Given the description of an element on the screen output the (x, y) to click on. 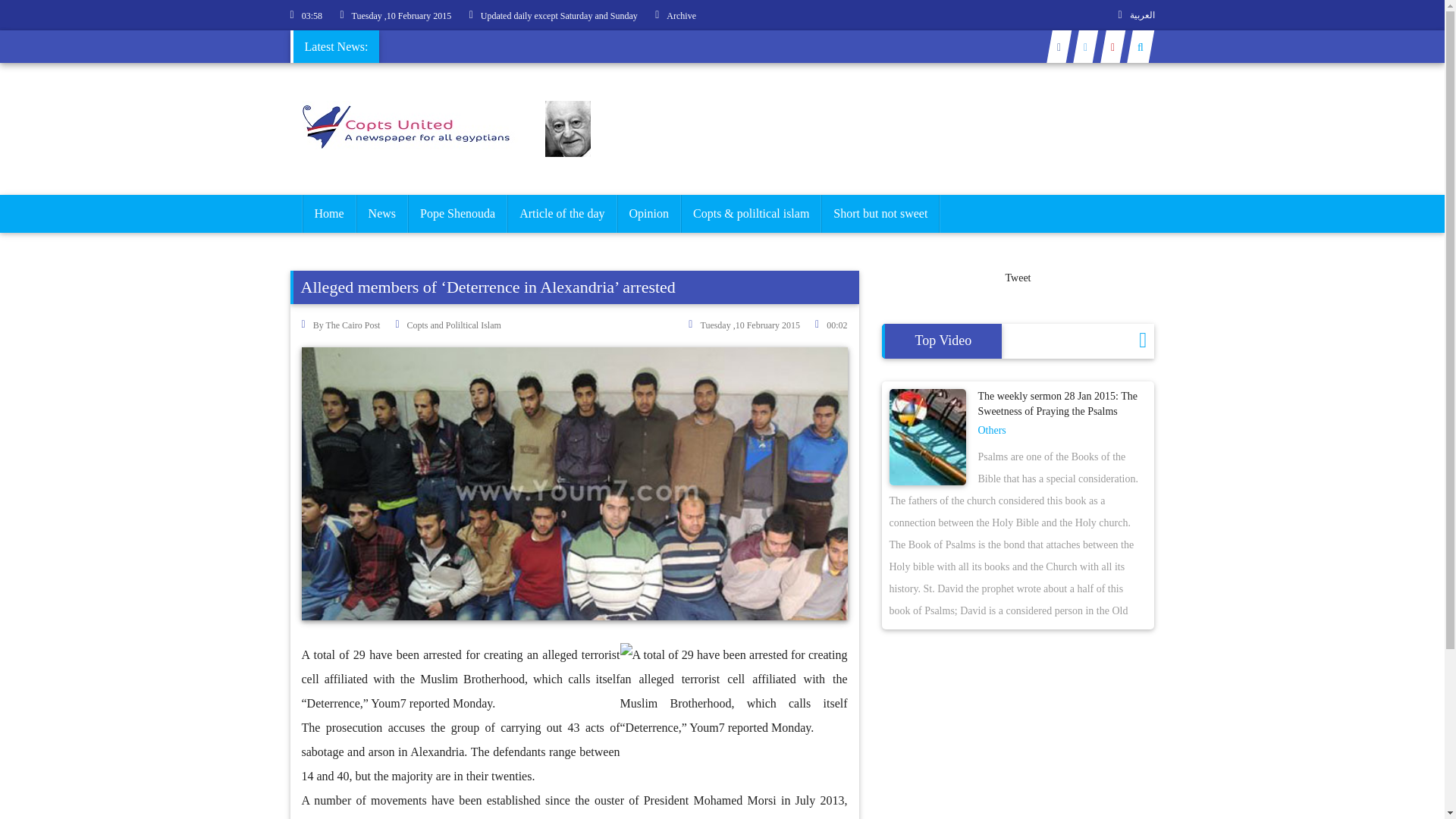
Home (328, 213)
Article of the day (561, 213)
Opinion (648, 213)
Pope Shenouda (457, 213)
Short but not sweet (880, 213)
News (381, 213)
Tweet (1017, 278)
